Given the description of an element on the screen output the (x, y) to click on. 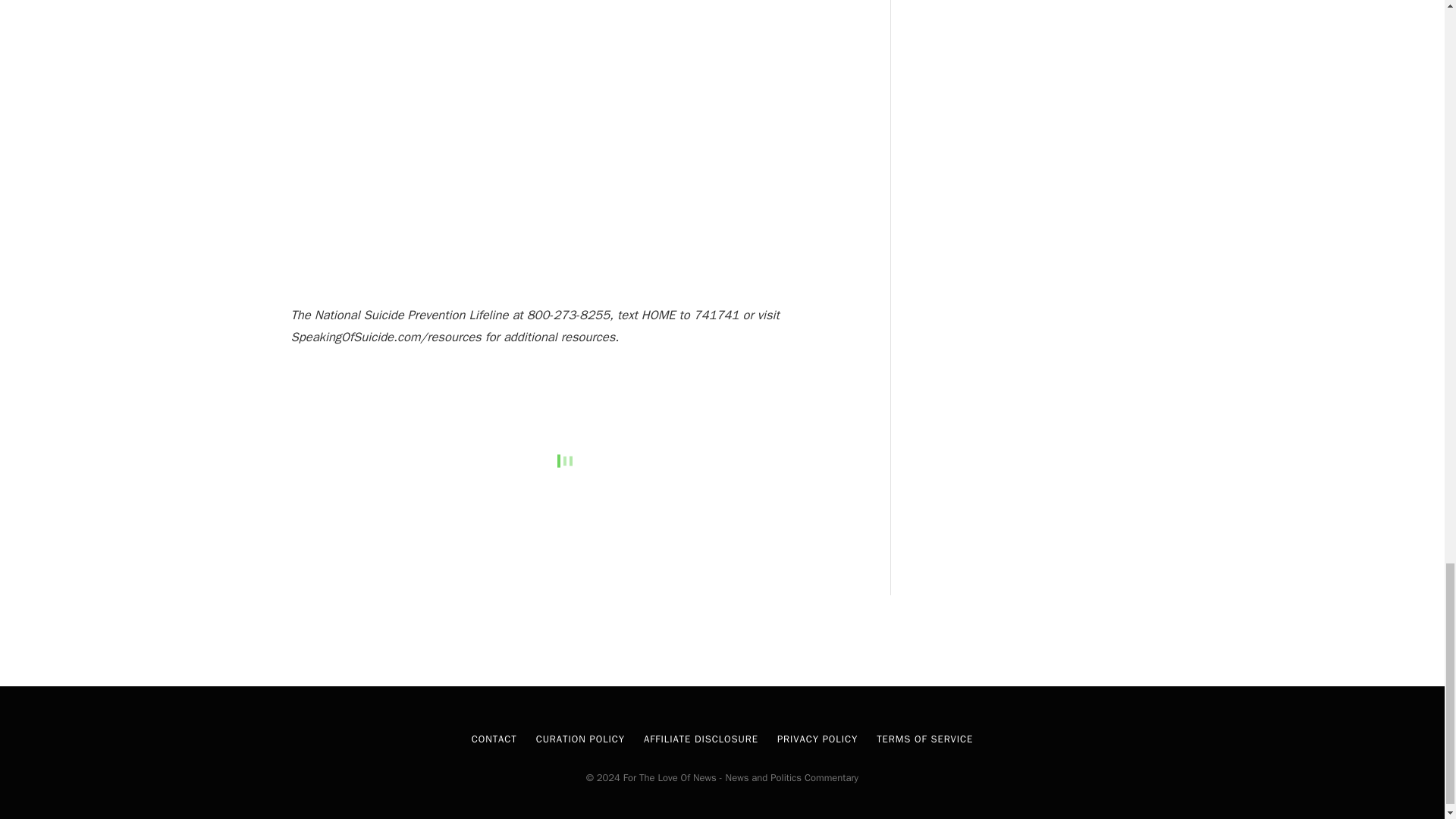
TERMS OF SERVICE (924, 738)
AFFILIATE DISCLOSURE (700, 738)
PRIVACY POLICY (817, 738)
CURATION POLICY (579, 738)
CONTACT (493, 738)
